Given the description of an element on the screen output the (x, y) to click on. 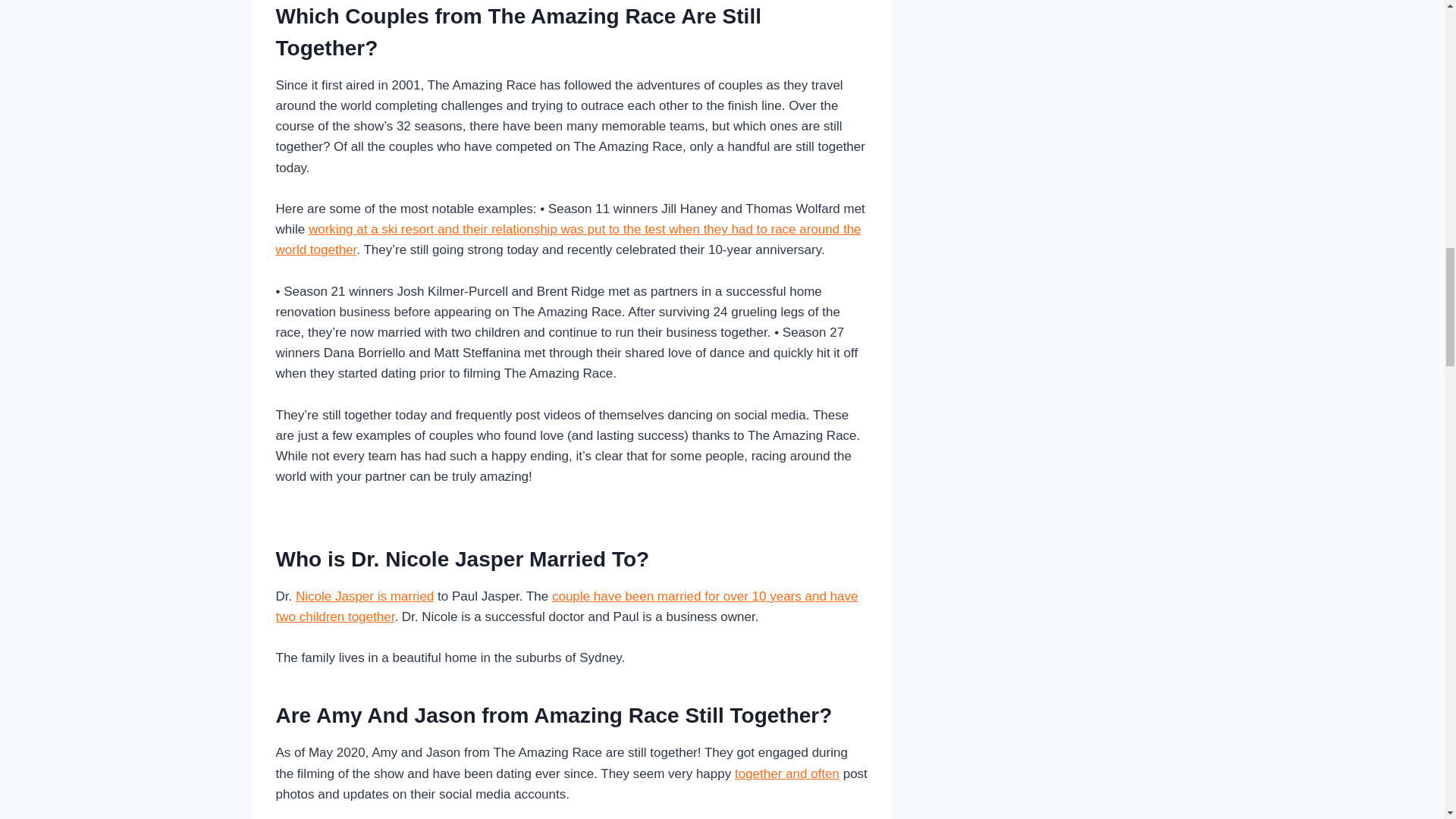
together and often (787, 772)
Nicole Jasper is married (364, 595)
